Given the description of an element on the screen output the (x, y) to click on. 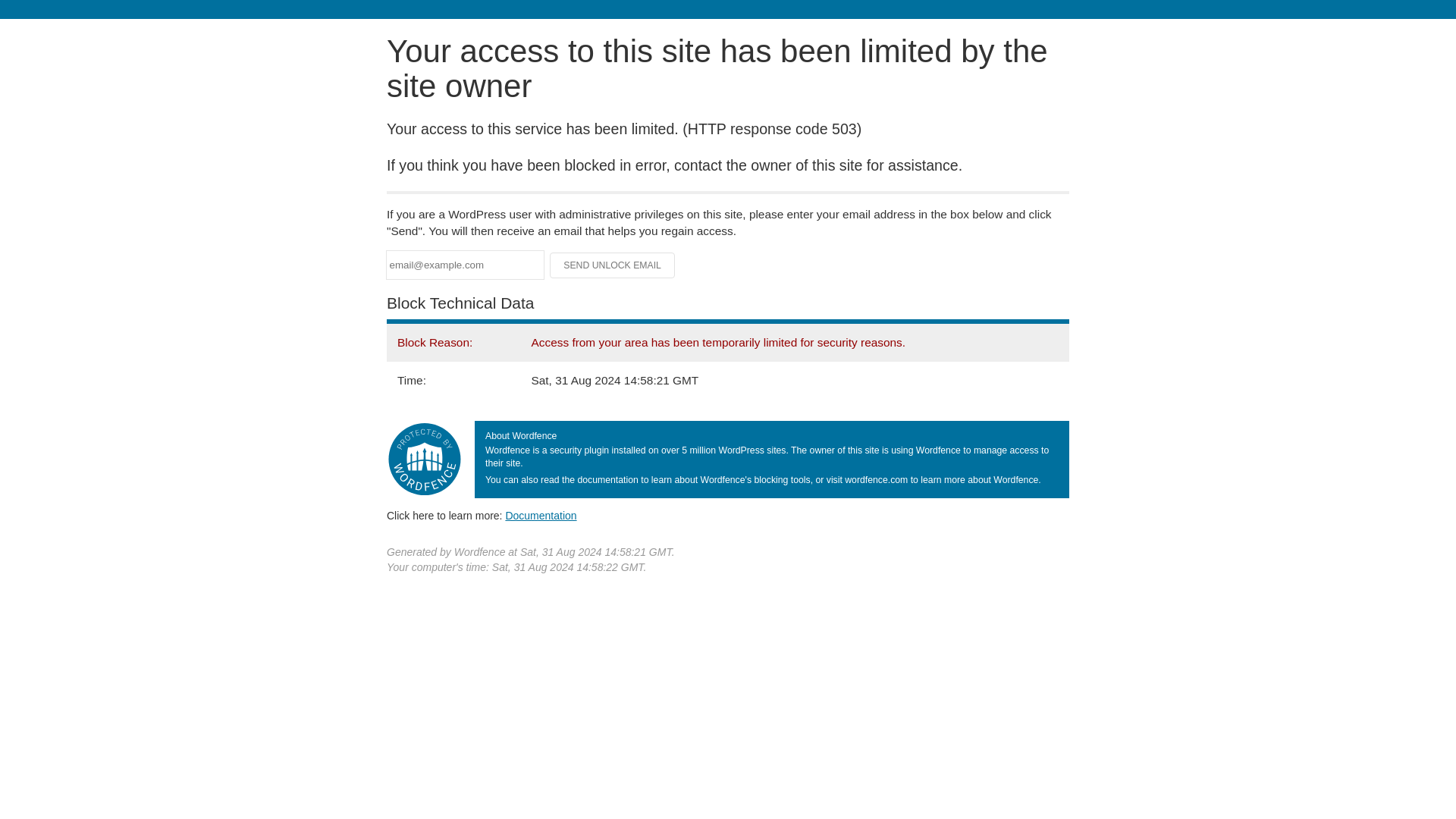
Send Unlock Email (612, 265)
Documentation (540, 515)
Send Unlock Email (612, 265)
